Given the description of an element on the screen output the (x, y) to click on. 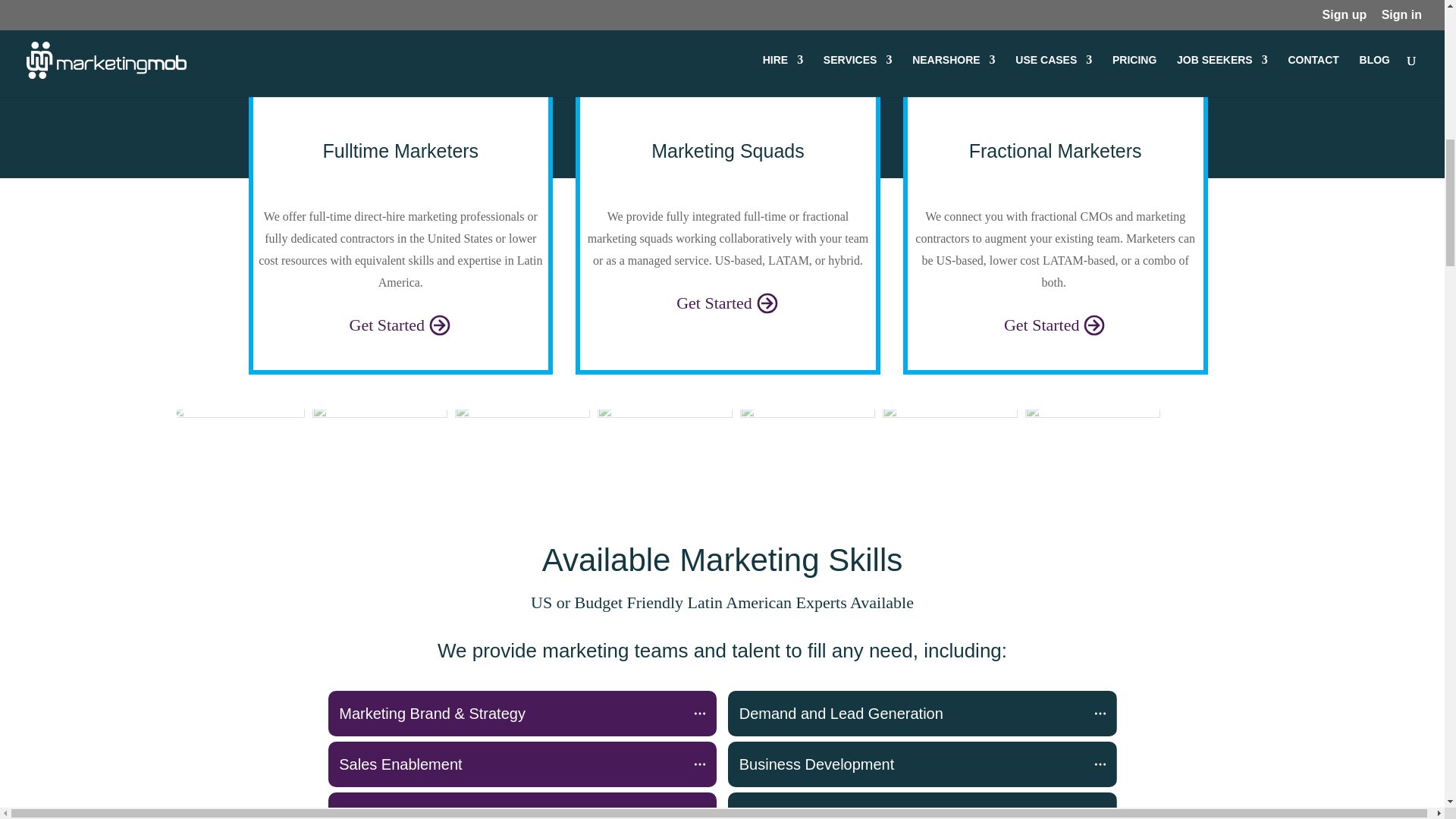
Marketing Squads Icon (727, 96)
Get Started (727, 301)
Get Started (1055, 323)
Hexagon (237, 443)
HD Supply (1092, 443)
Fractional Marketers Icon (1055, 96)
Nearshore Marketing (400, 96)
Georgia Pacific (664, 443)
AchieveIT (807, 443)
Get Started (401, 323)
